Given the description of an element on the screen output the (x, y) to click on. 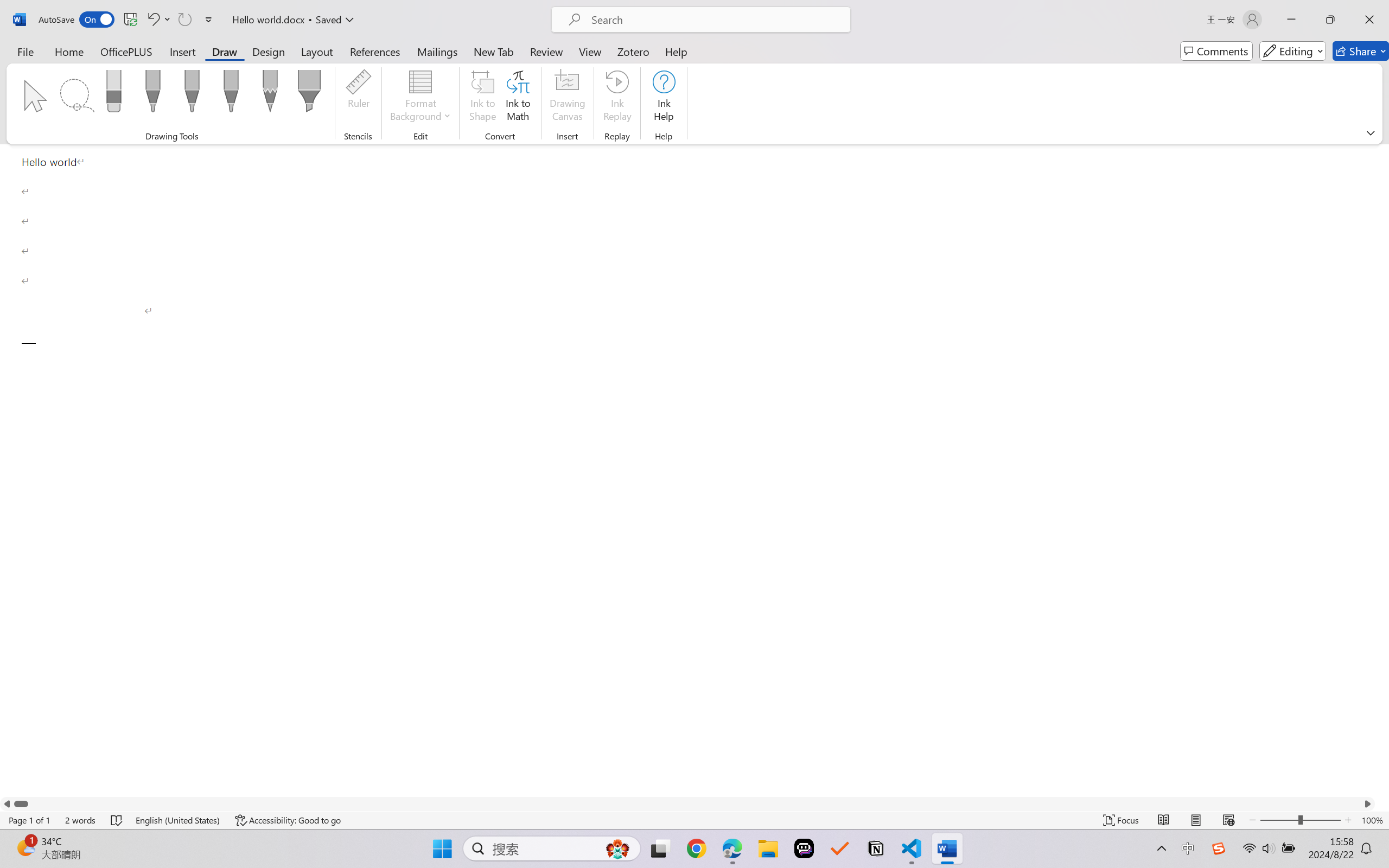
View (589, 51)
Highlighter: Yellow, 6 mm (309, 94)
Class: NetUIScrollBar (687, 803)
Undo Paragraph Formatting (152, 19)
File Tab (24, 51)
Ink to Math (517, 97)
Home (69, 51)
Minimize (1291, 19)
OfficePLUS (126, 51)
Microsoft search (715, 19)
Ruler (358, 97)
Share (1360, 51)
New Tab (493, 51)
